Given the description of an element on the screen output the (x, y) to click on. 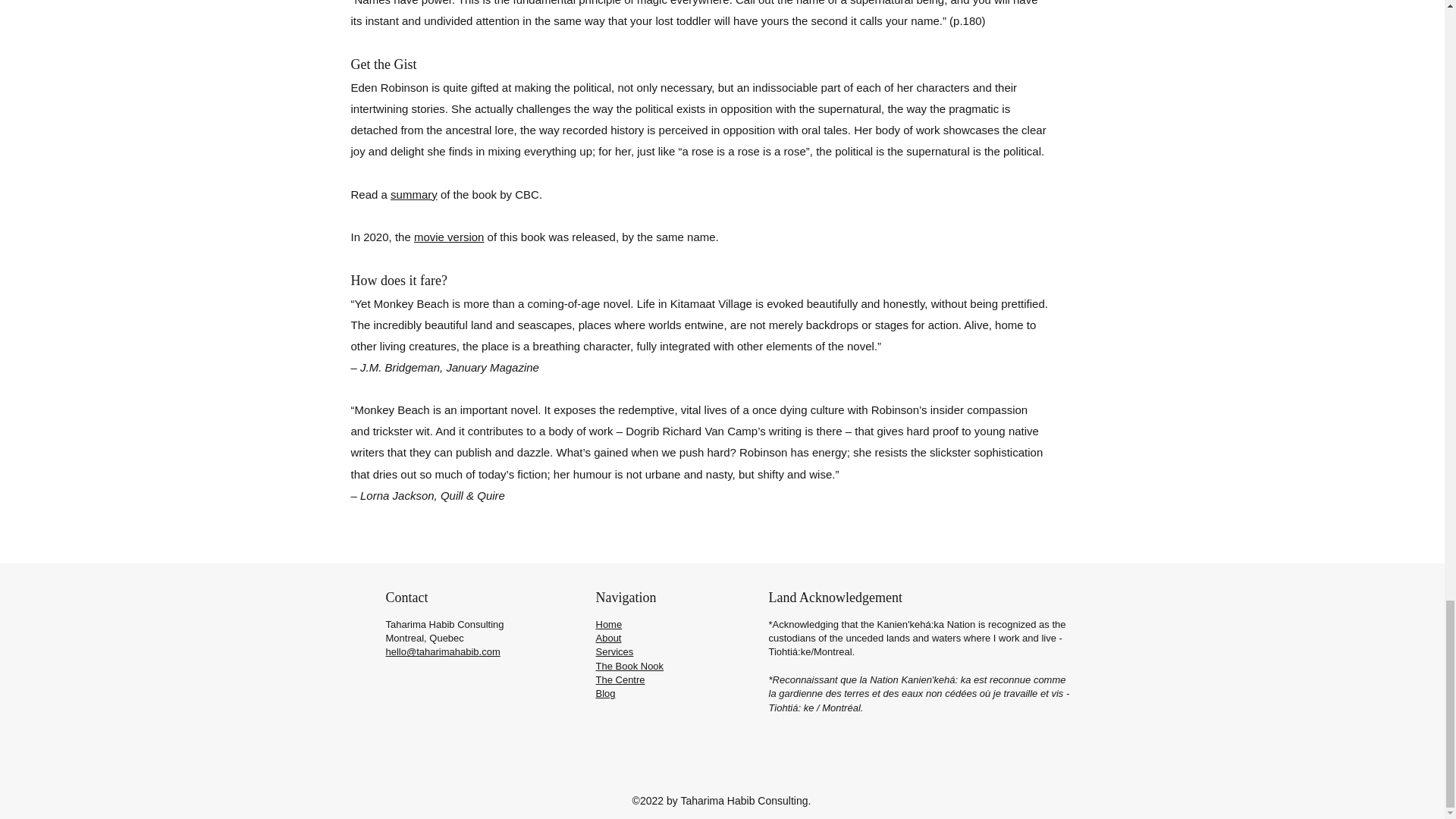
Home (609, 624)
summary (414, 194)
The Centre (620, 679)
movie version (448, 236)
The Book Nook (629, 665)
Blog (605, 693)
About (608, 637)
Services (614, 651)
